Given the description of an element on the screen output the (x, y) to click on. 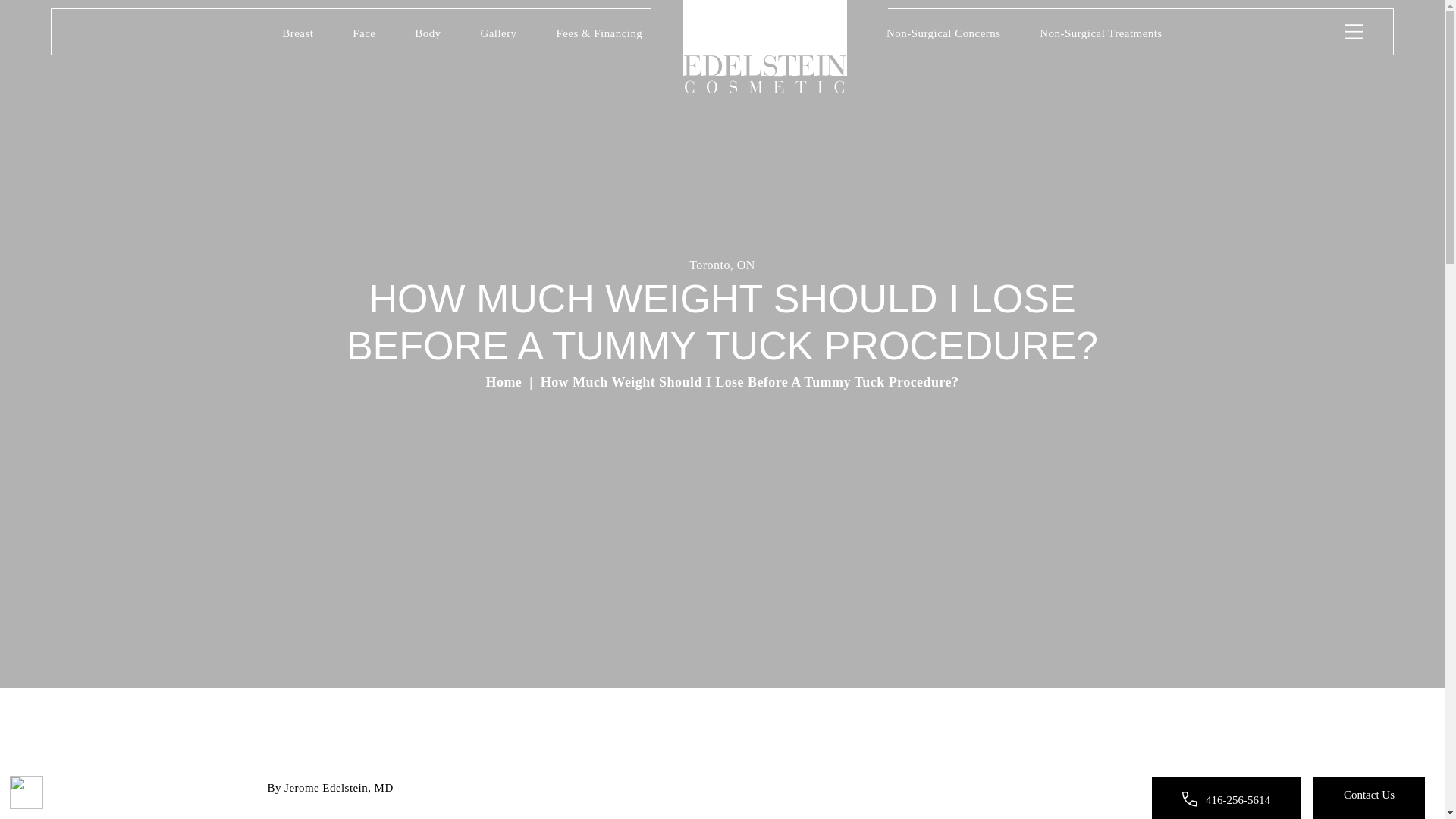
Face (363, 36)
Home (764, 46)
Breast (297, 36)
Non-Surgical Treatments (1100, 36)
Body (427, 36)
Gallery (498, 36)
Non-Surgical Concerns (943, 36)
